Given the description of an element on the screen output the (x, y) to click on. 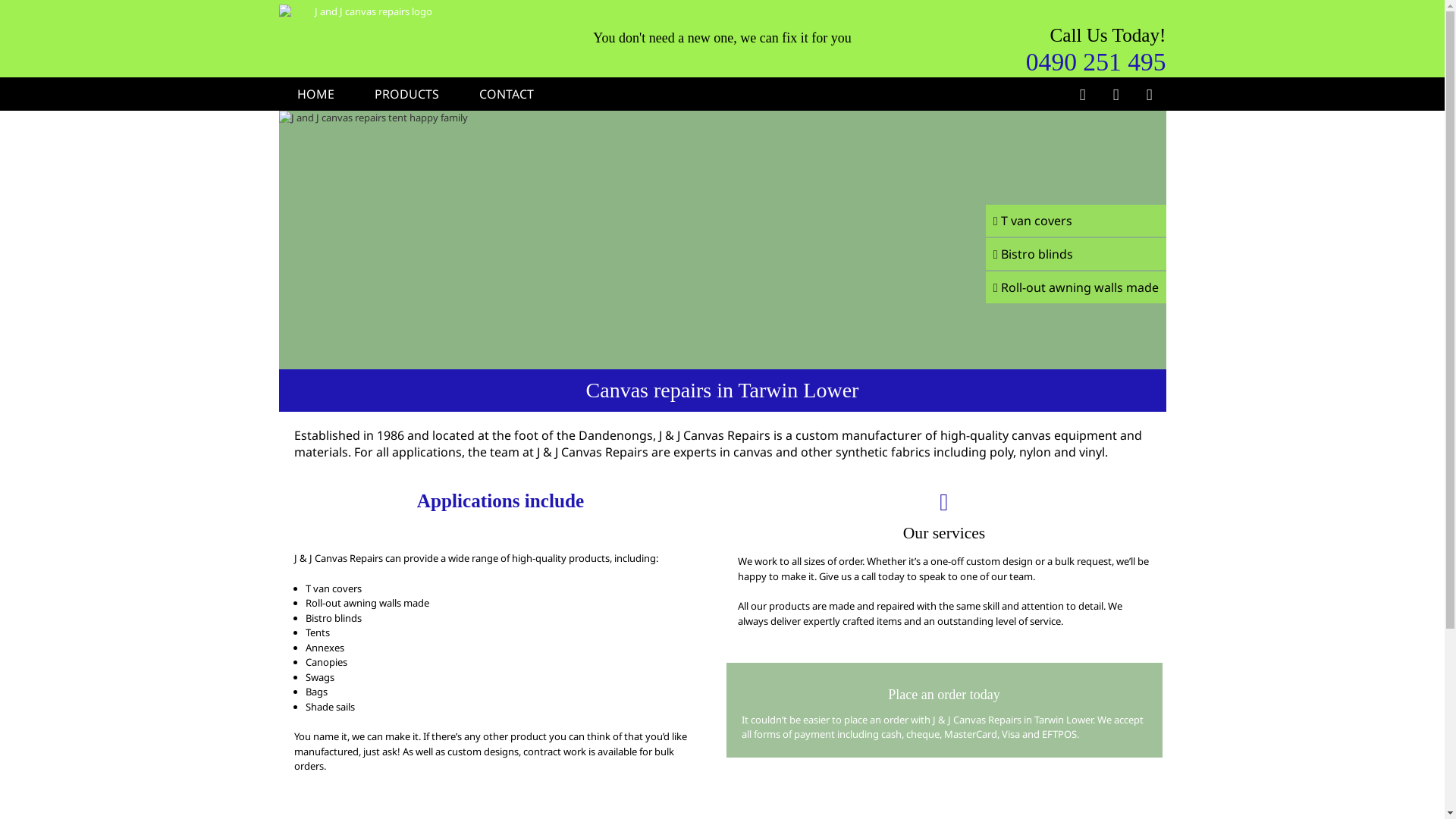
J and J canvas repairs logo Element type: hover (367, 11)
J and J canvas repairs tent happy family Element type: hover (722, 239)
HOME Element type: text (315, 93)
PRODUCTS Element type: text (406, 93)
0490 251 495 Element type: text (1096, 61)
CONTACT Element type: text (506, 93)
